Given the description of an element on the screen output the (x, y) to click on. 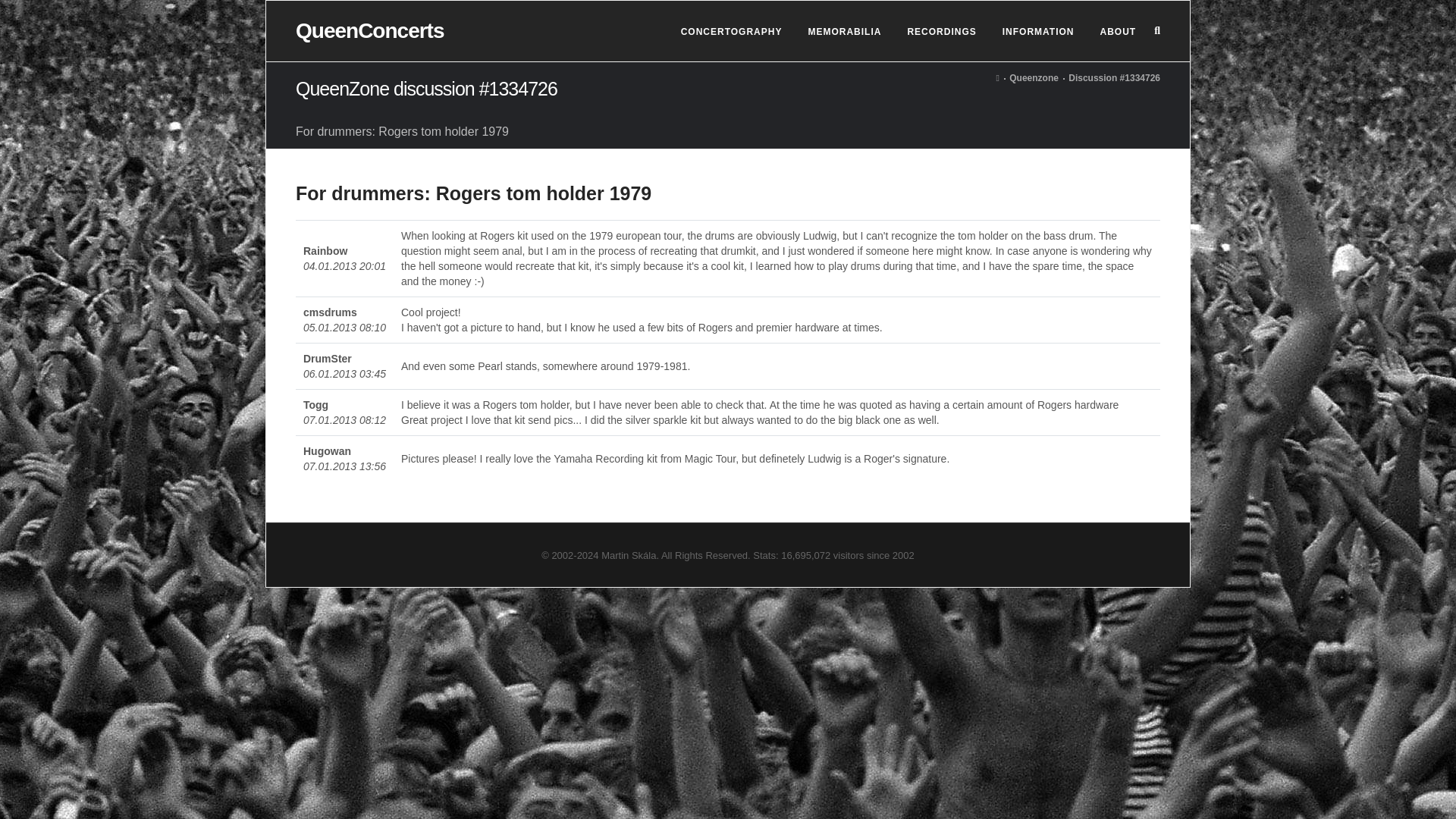
ABOUT (1118, 31)
MEMORABILIA (843, 31)
CONCERTOGRAPHY (731, 31)
Rainbow (324, 250)
RECORDINGS (941, 31)
INFORMATION (1037, 31)
Queenzone (1033, 77)
QueenConcerts (369, 30)
